Given the description of an element on the screen output the (x, y) to click on. 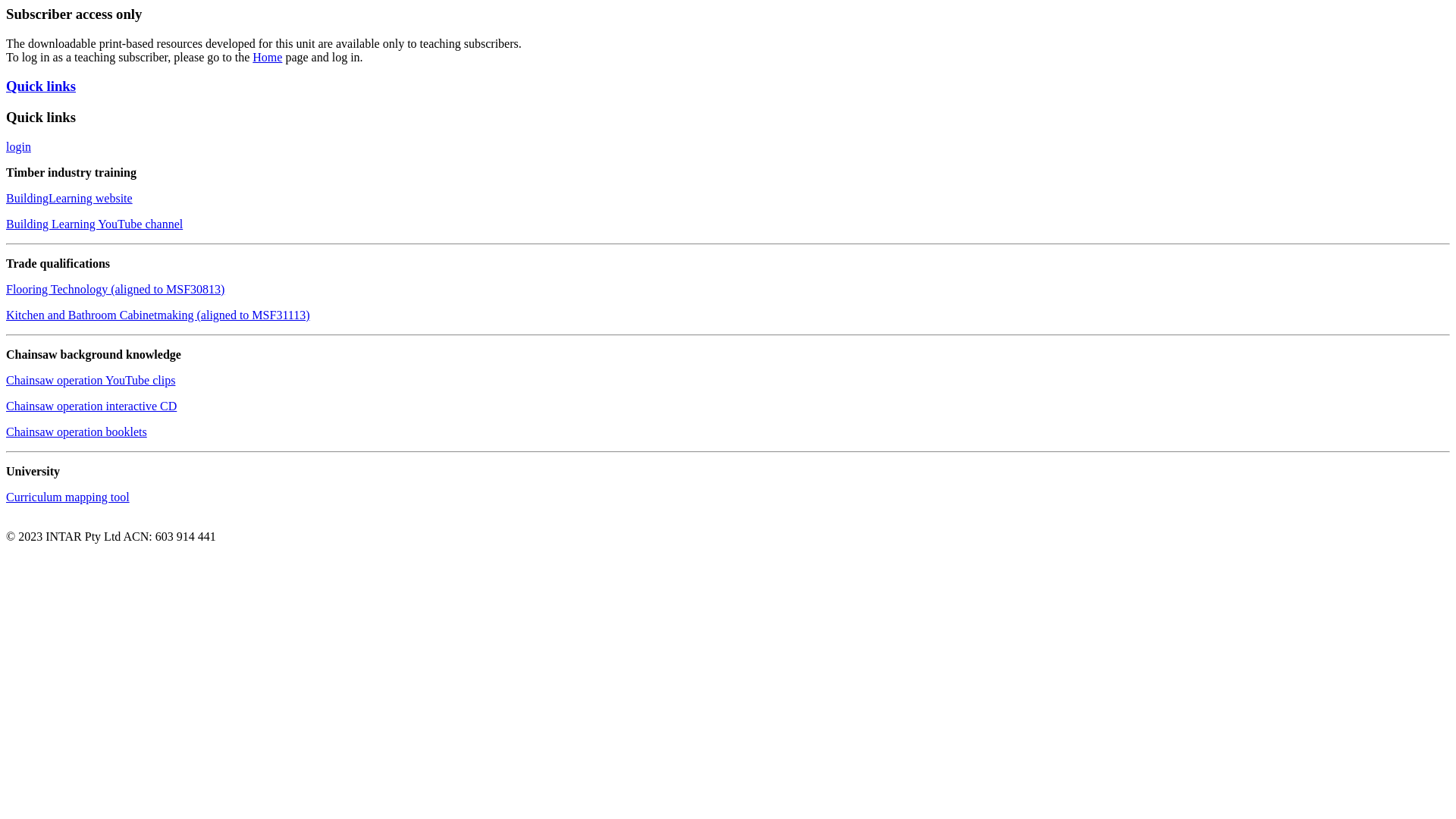
BuildingLearning website Element type: text (69, 197)
Flooring Technology (aligned to MSF30813) Element type: text (115, 288)
Building Learning YouTube channel Element type: text (94, 223)
Kitchen and Bathroom Cabinetmaking (aligned to MSF31113) Element type: text (158, 314)
Chainsaw operation interactive CD Element type: text (91, 405)
Quick links Element type: text (40, 86)
Chainsaw operation YouTube clips Element type: text (90, 379)
login Element type: text (18, 146)
Curriculum mapping tool Element type: text (67, 496)
Chainsaw operation booklets Element type: text (76, 431)
Home Element type: text (267, 56)
